Given the description of an element on the screen output the (x, y) to click on. 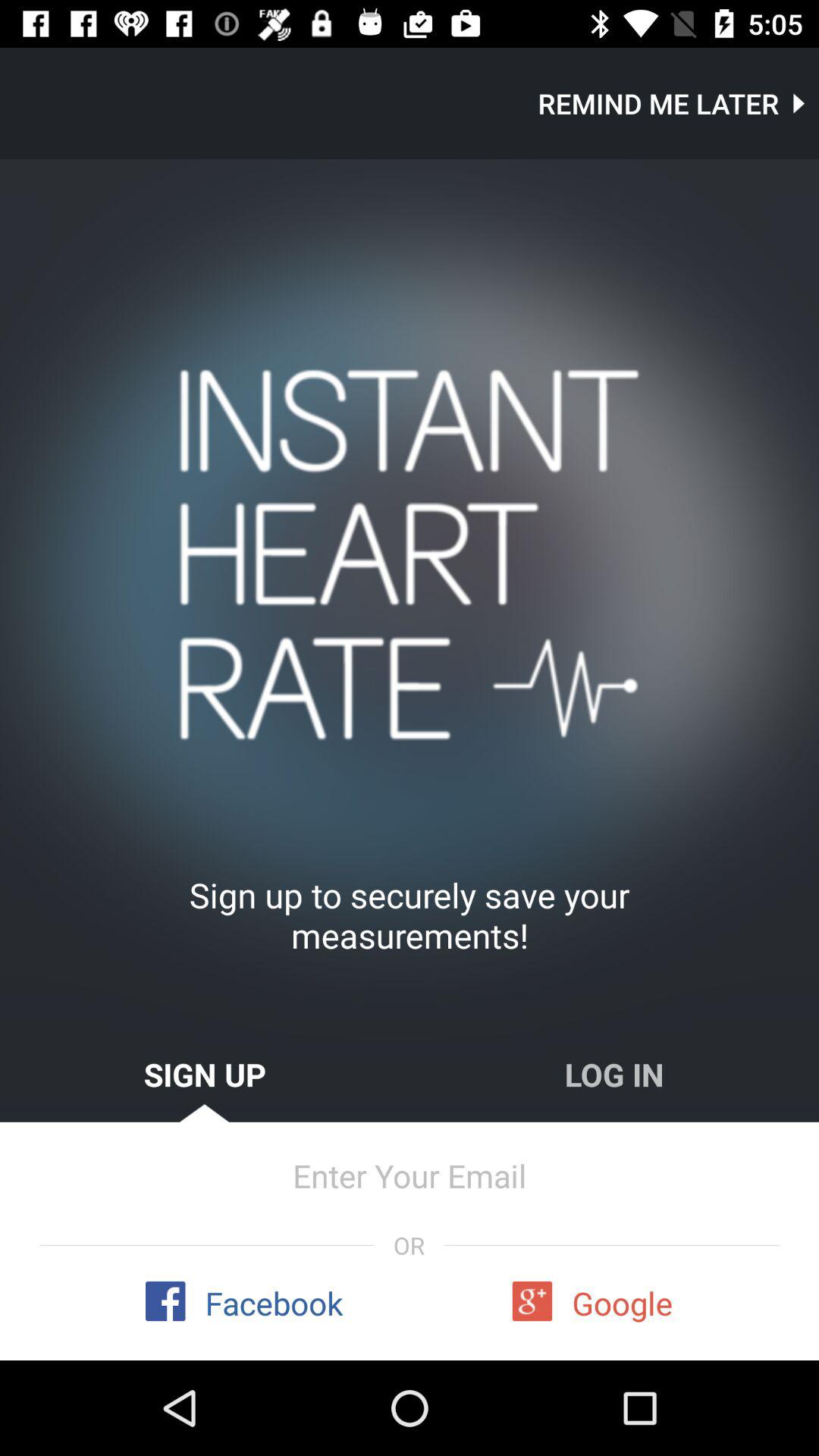
turn off icon next to the sign up (614, 1074)
